Given the description of an element on the screen output the (x, y) to click on. 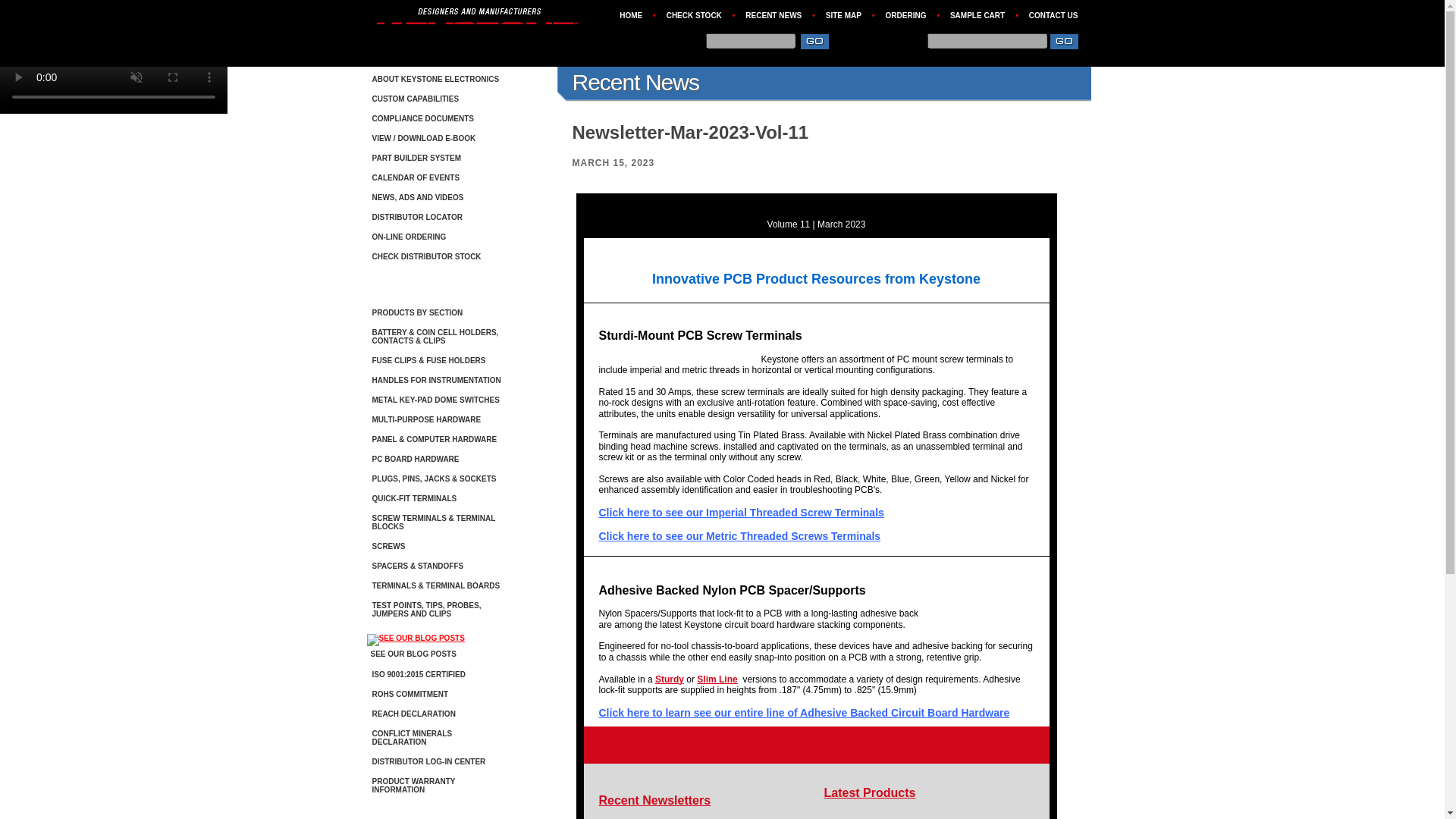
GO (1064, 43)
CONTACT US (1053, 15)
Recent News (635, 82)
Submit (815, 43)
ORDERING (905, 15)
Slim Line (716, 678)
PART BUILDER SYSTEM (436, 159)
COMPLIANCE DOCUMENTS (436, 120)
Click here to see our Imperial Threaded Screw Terminals (740, 512)
NEWS, ADS AND VIDEOS (436, 199)
Click here to see our Metric Threaded Screws Terminals (739, 535)
RECENT NEWS (773, 15)
Sturdy (669, 678)
SAMPLE CART (977, 15)
